Given the description of an element on the screen output the (x, y) to click on. 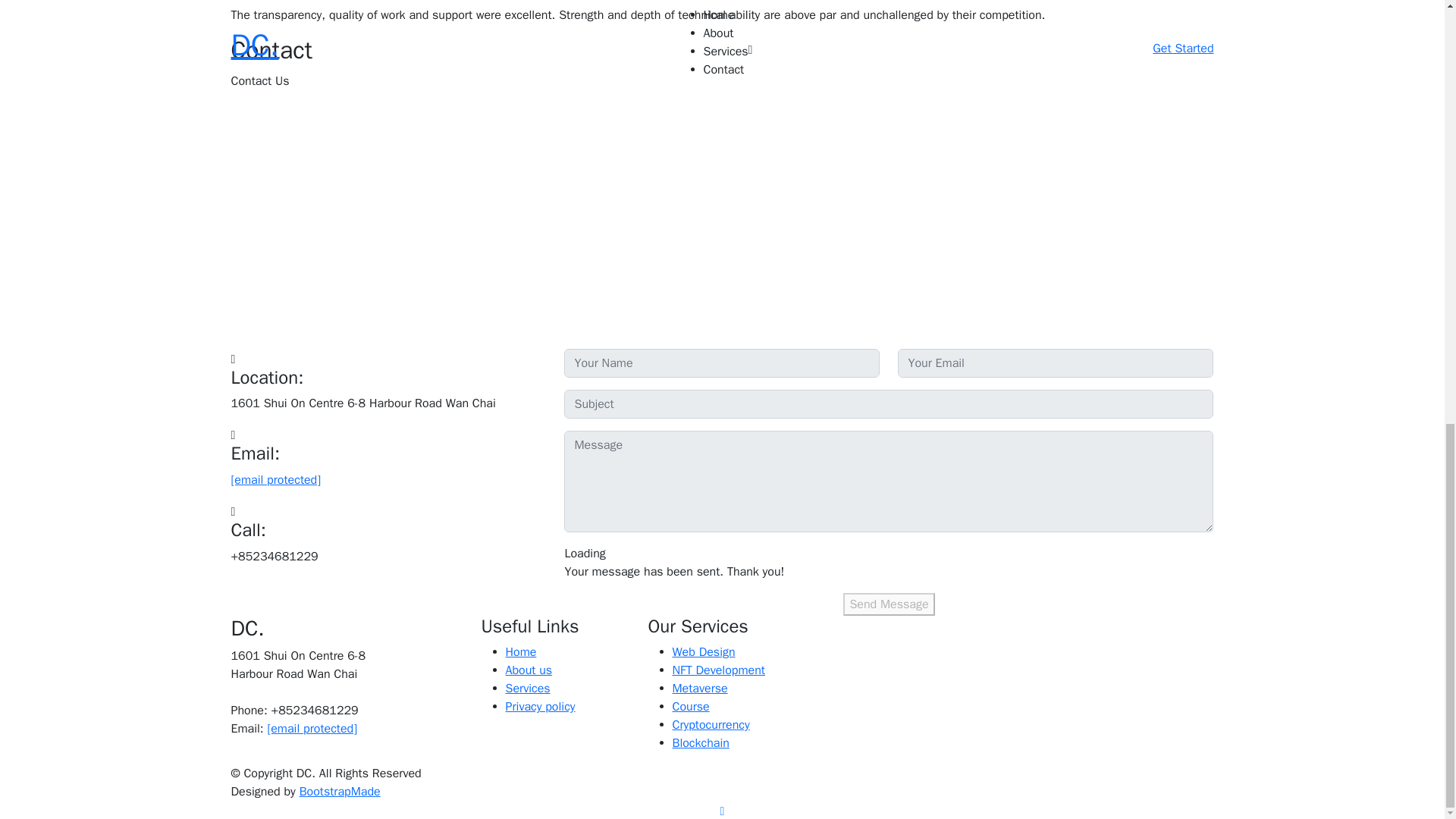
Home (520, 652)
Metaverse (698, 688)
Course (690, 706)
Web Design (703, 652)
BootstrapMade (339, 791)
Blockchain (700, 743)
Cryptocurrency (710, 724)
About us (528, 670)
NFT Development (717, 670)
Send Message (888, 603)
